Given the description of an element on the screen output the (x, y) to click on. 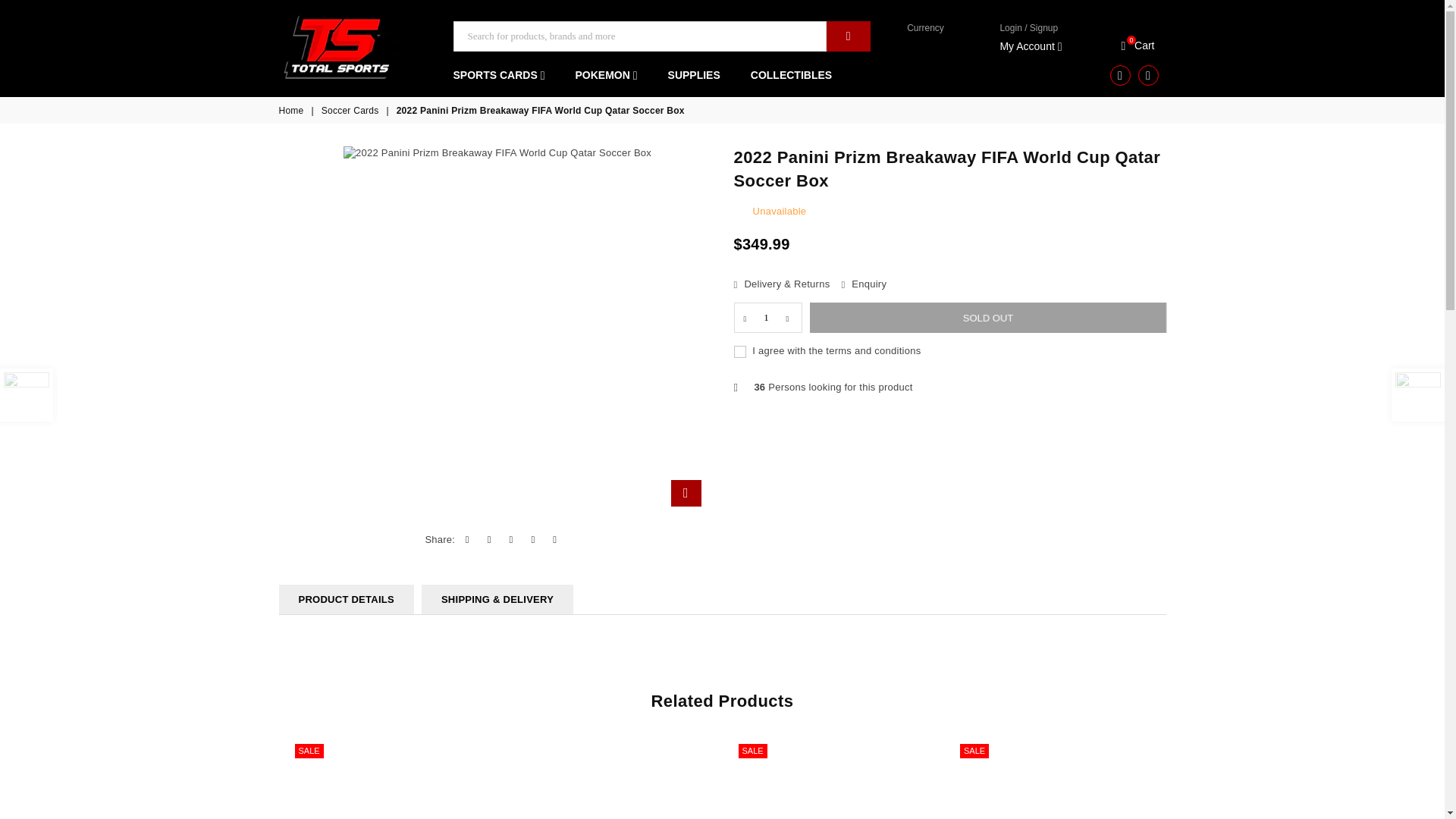
Previous Product (26, 394)
SUPPLIES (1136, 46)
Cart (694, 75)
Back to the home page (1136, 46)
COLLECTIBLES (292, 110)
Instagram (791, 75)
Facebook (1147, 74)
SUBMIT (1119, 74)
Pin on Pinterest (848, 36)
POKEMON (510, 540)
SPORTS CARDS (605, 75)
1 (504, 75)
Share by Email (765, 317)
Tweet on Twitter (555, 540)
